Given the description of an element on the screen output the (x, y) to click on. 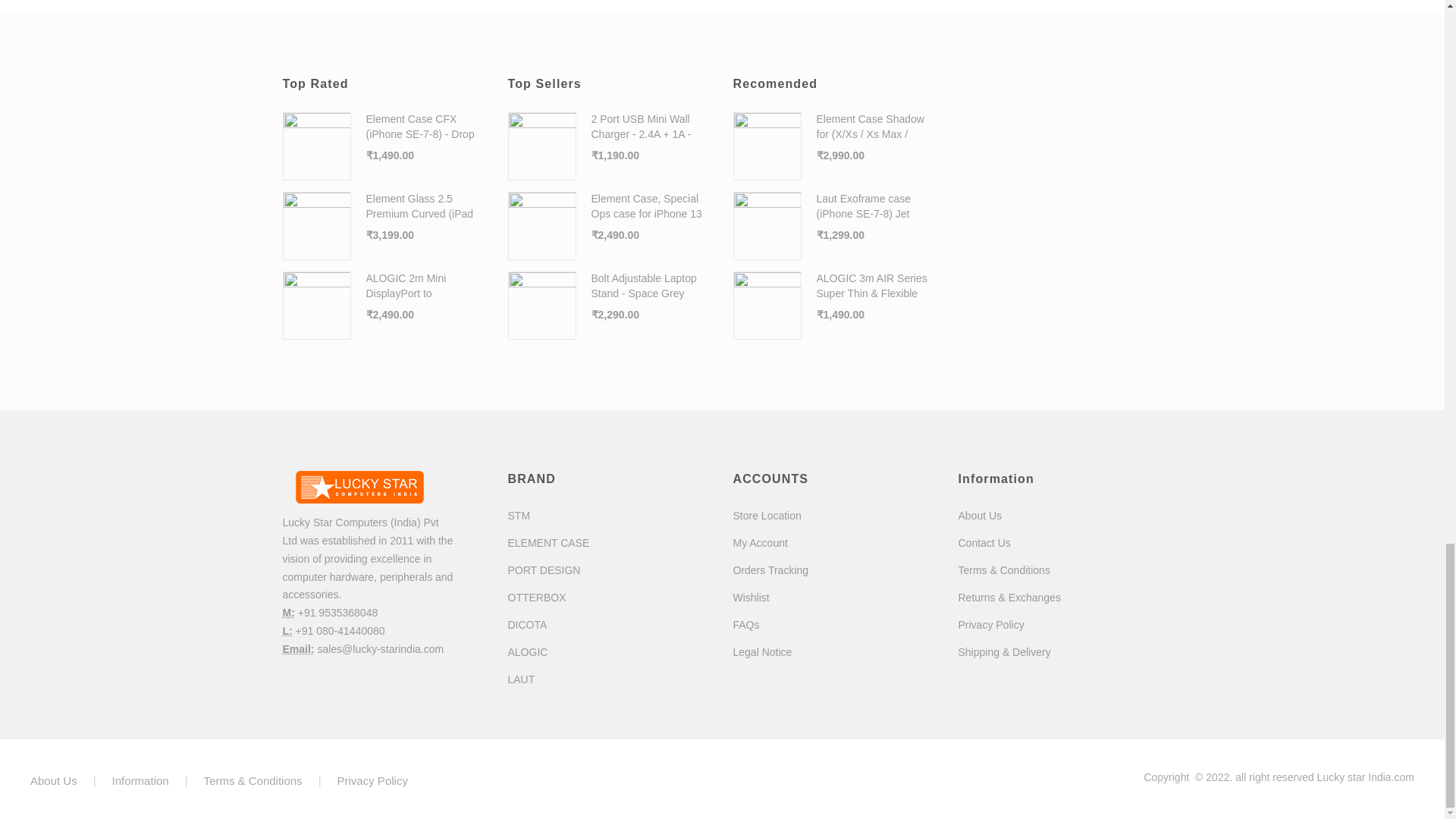
Email Address (298, 648)
Phone Number (288, 612)
